Given the description of an element on the screen output the (x, y) to click on. 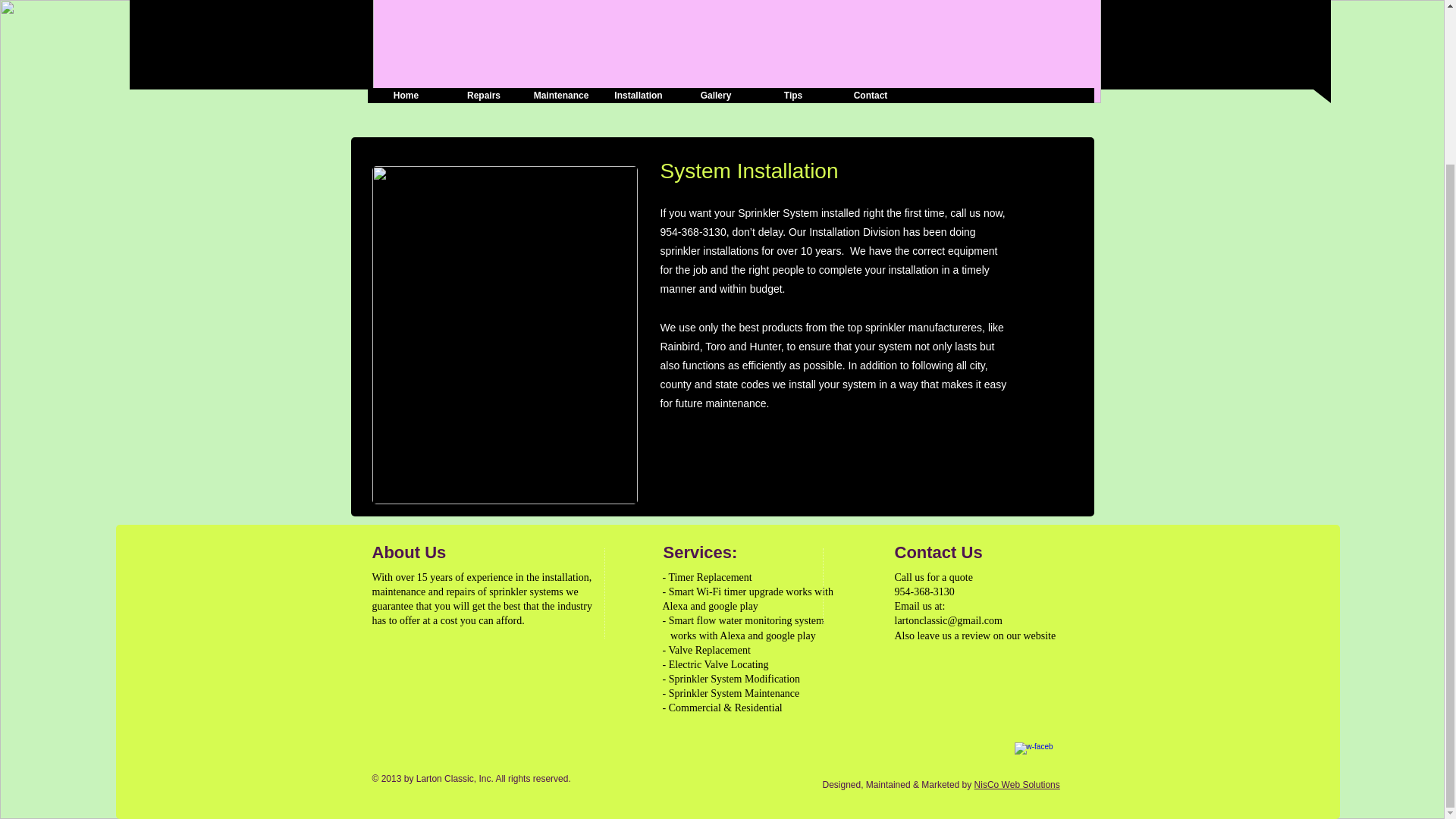
Installation (637, 95)
Contact (869, 95)
Tips (792, 95)
Maintenance (559, 95)
NisCo Web Solutions (1016, 784)
Home (405, 95)
Gallery (715, 95)
Repairs (482, 95)
